Given the description of an element on the screen output the (x, y) to click on. 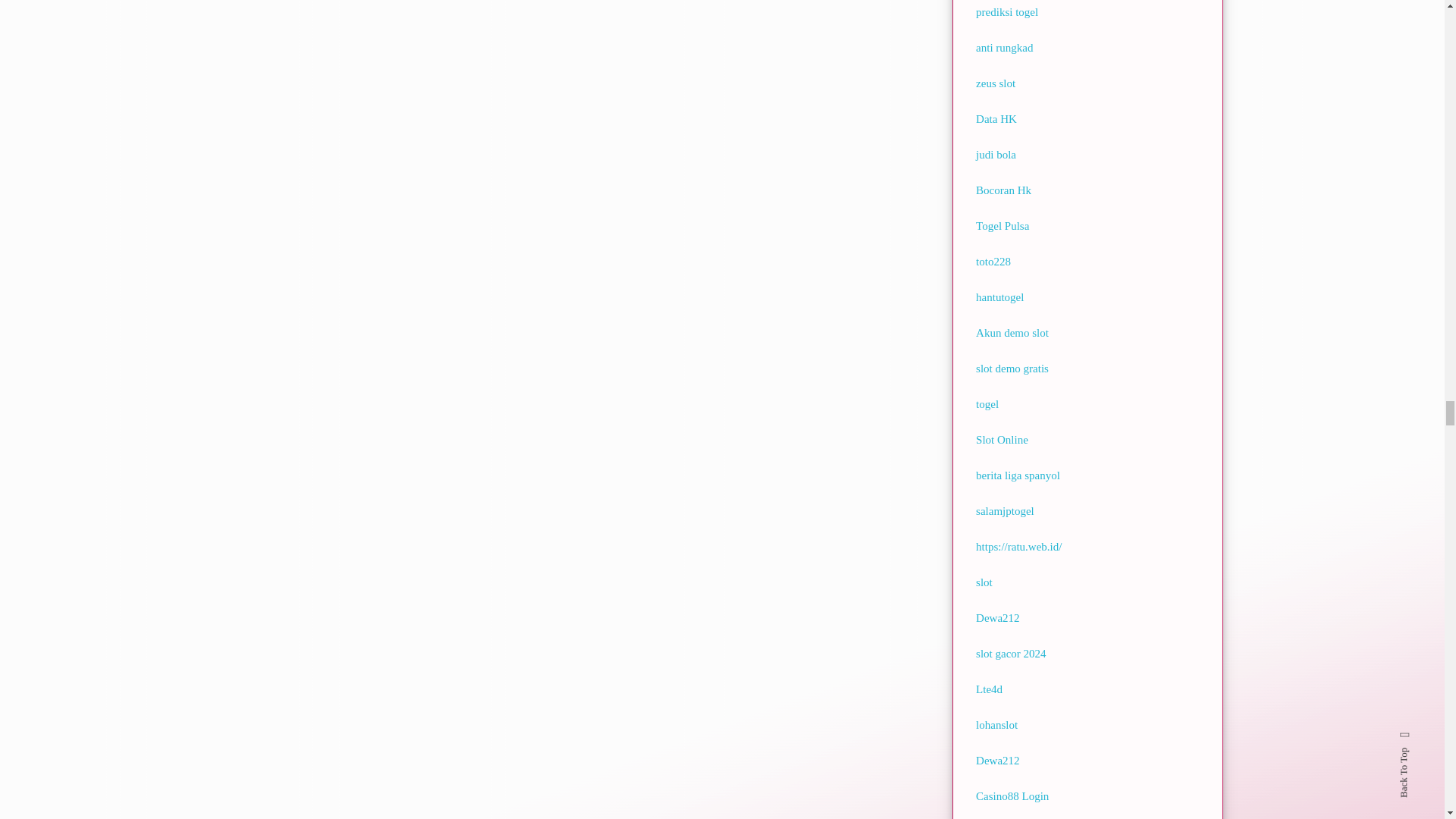
berita liga spanyol (1017, 475)
